Given the description of an element on the screen output the (x, y) to click on. 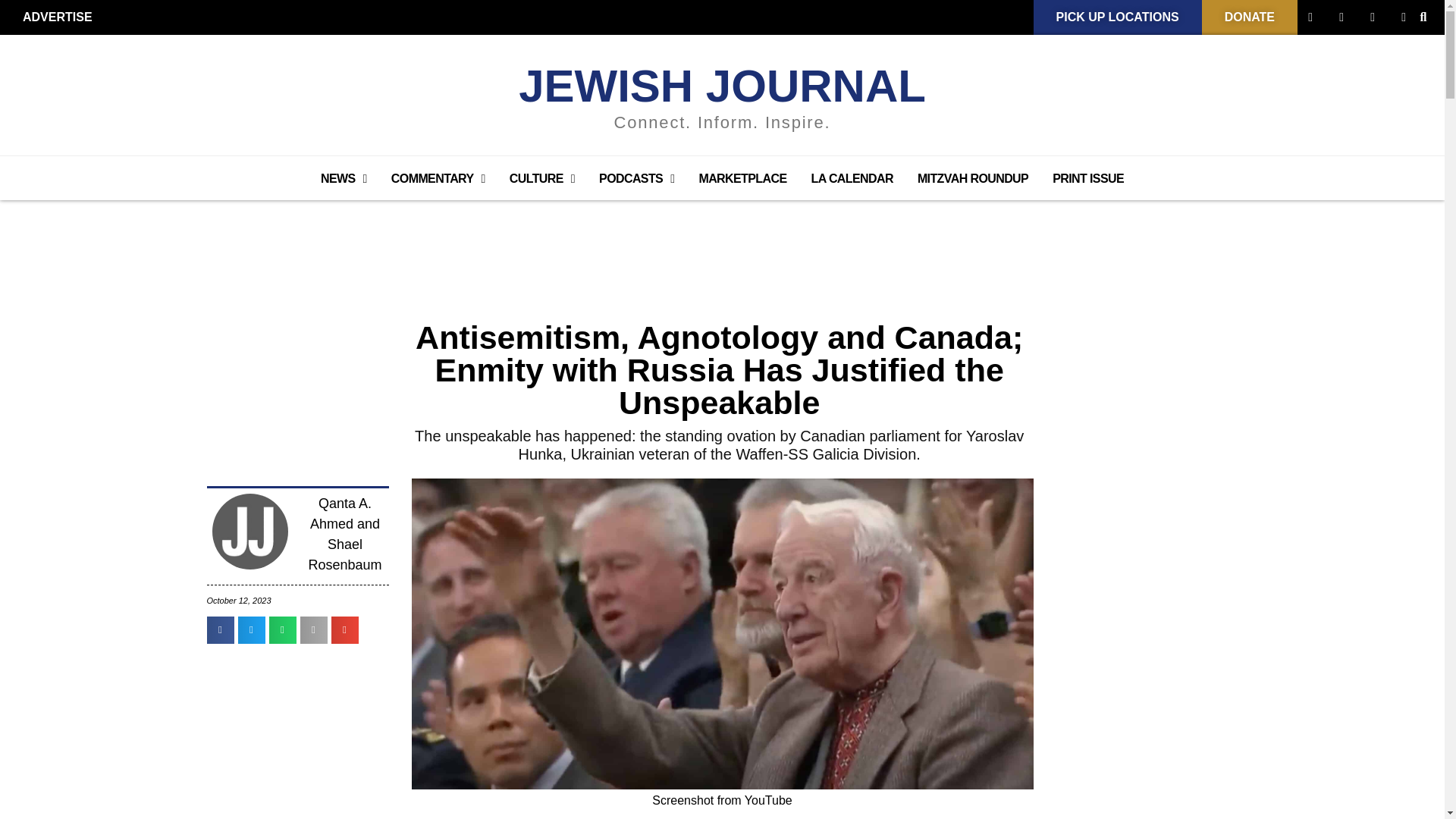
COMMENTARY (437, 178)
NEWS (343, 178)
ADVERTISE (57, 17)
3rd party ad content (721, 242)
DONATE (1249, 17)
MARKETPLACE (741, 178)
PODCASTS (635, 178)
3rd party ad content (1161, 584)
PICK UP LOCATIONS (1117, 17)
LA CALENDAR (852, 178)
CULTURE (541, 178)
JEWISH JOURNAL (722, 85)
